Given the description of an element on the screen output the (x, y) to click on. 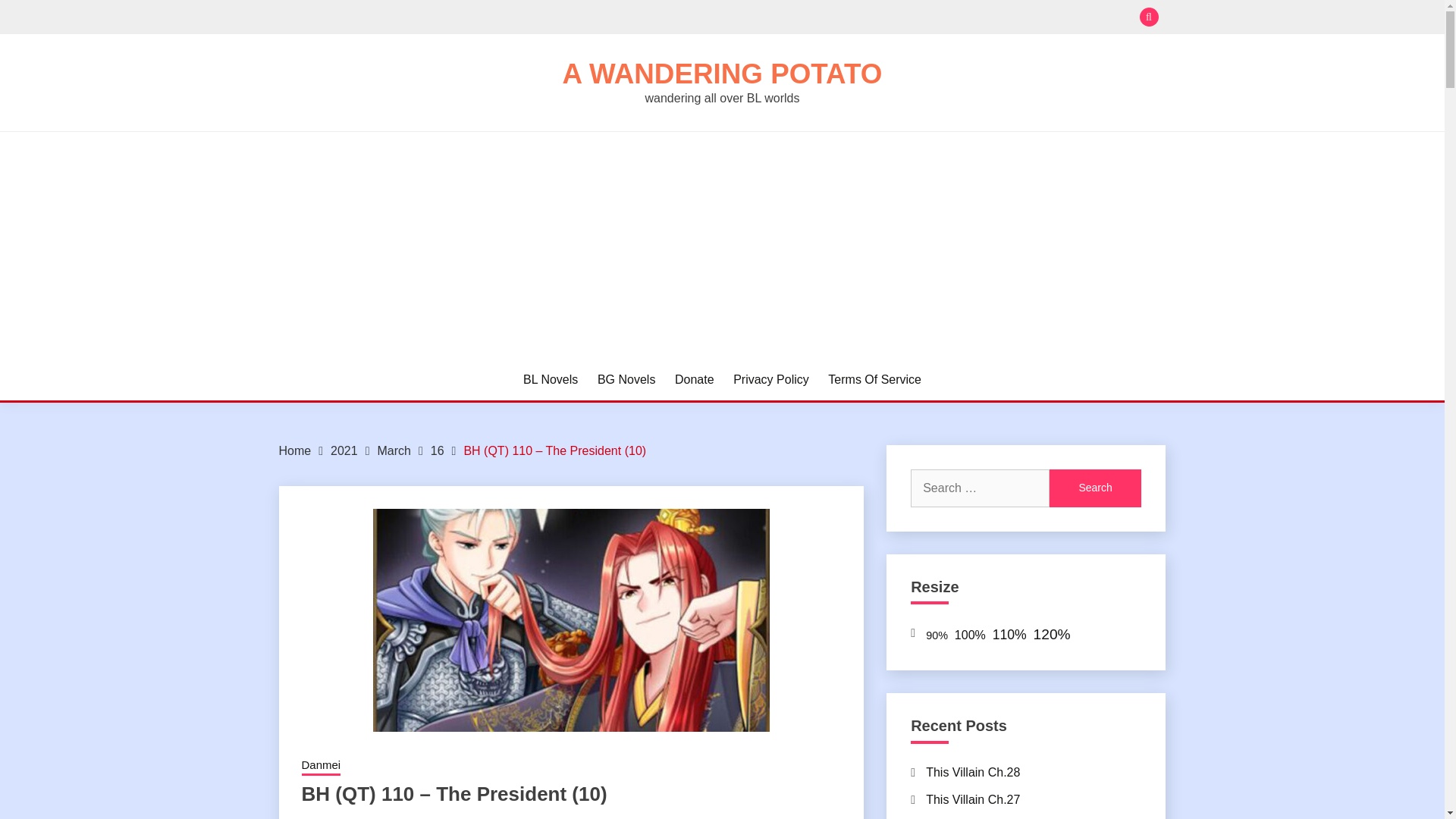
Search (1095, 487)
Donate (694, 380)
BG Novels (625, 380)
BL Novels (550, 380)
Search (832, 18)
A WANDERING POTATO (722, 73)
16 (437, 450)
Home (295, 450)
Search (1095, 487)
Danmei (320, 766)
Privacy Policy (771, 380)
Terms Of Service (874, 380)
March (393, 450)
2021 (344, 450)
